Given the description of an element on the screen output the (x, y) to click on. 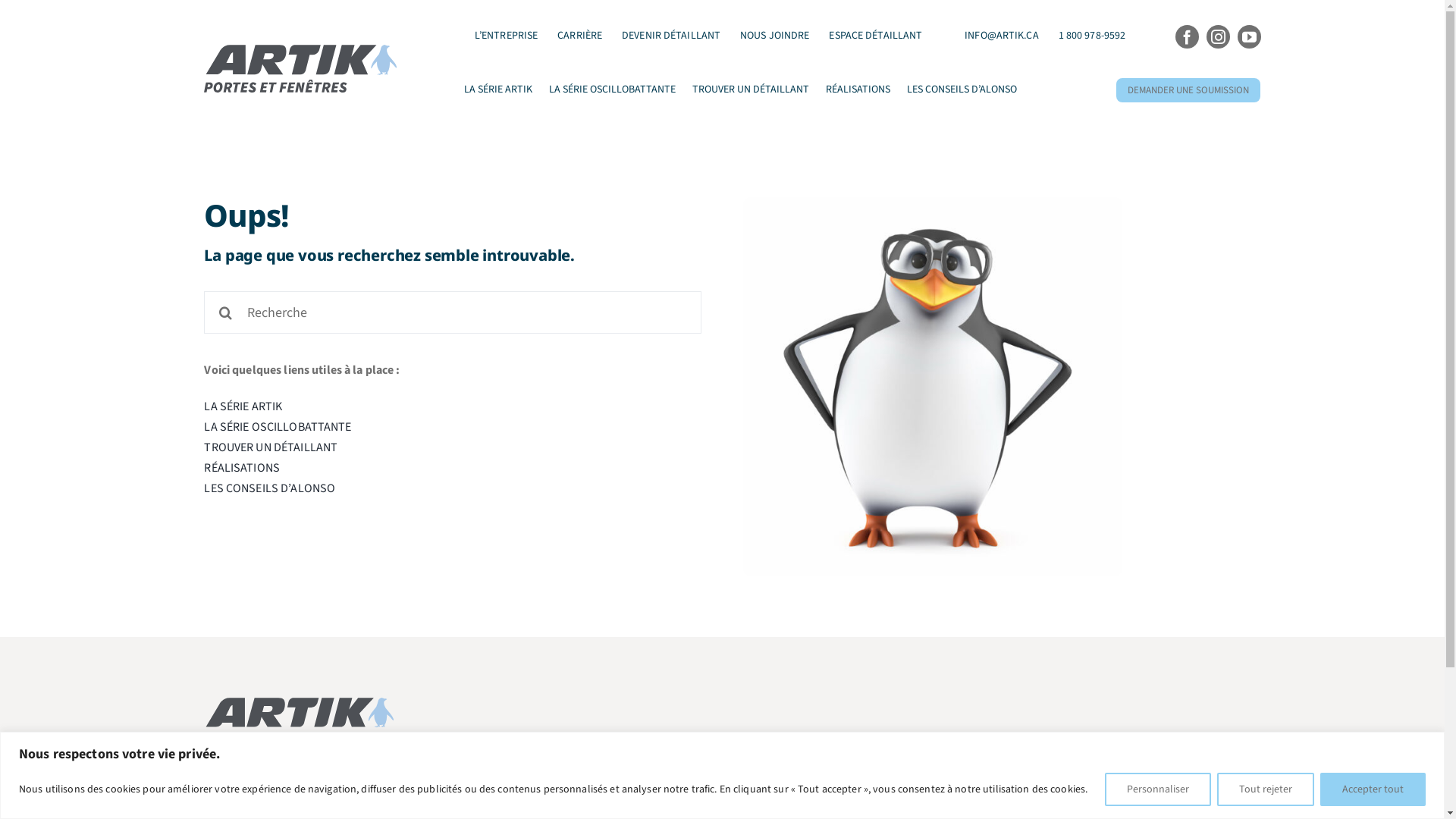
Personnaliser Element type: text (1157, 788)
NOUS JOINDRE Element type: text (774, 36)
Accepter tout Element type: text (1372, 788)
DEMANDER UNE SOUMISSION Element type: text (1188, 89)
Boffin penguin listens intently Element type: hover (932, 386)
1 800 978-9592 Element type: text (1092, 36)
INFO@ARTIK.CA Element type: text (1001, 36)
Tout rejeter Element type: text (1265, 788)
